Given the description of an element on the screen output the (x, y) to click on. 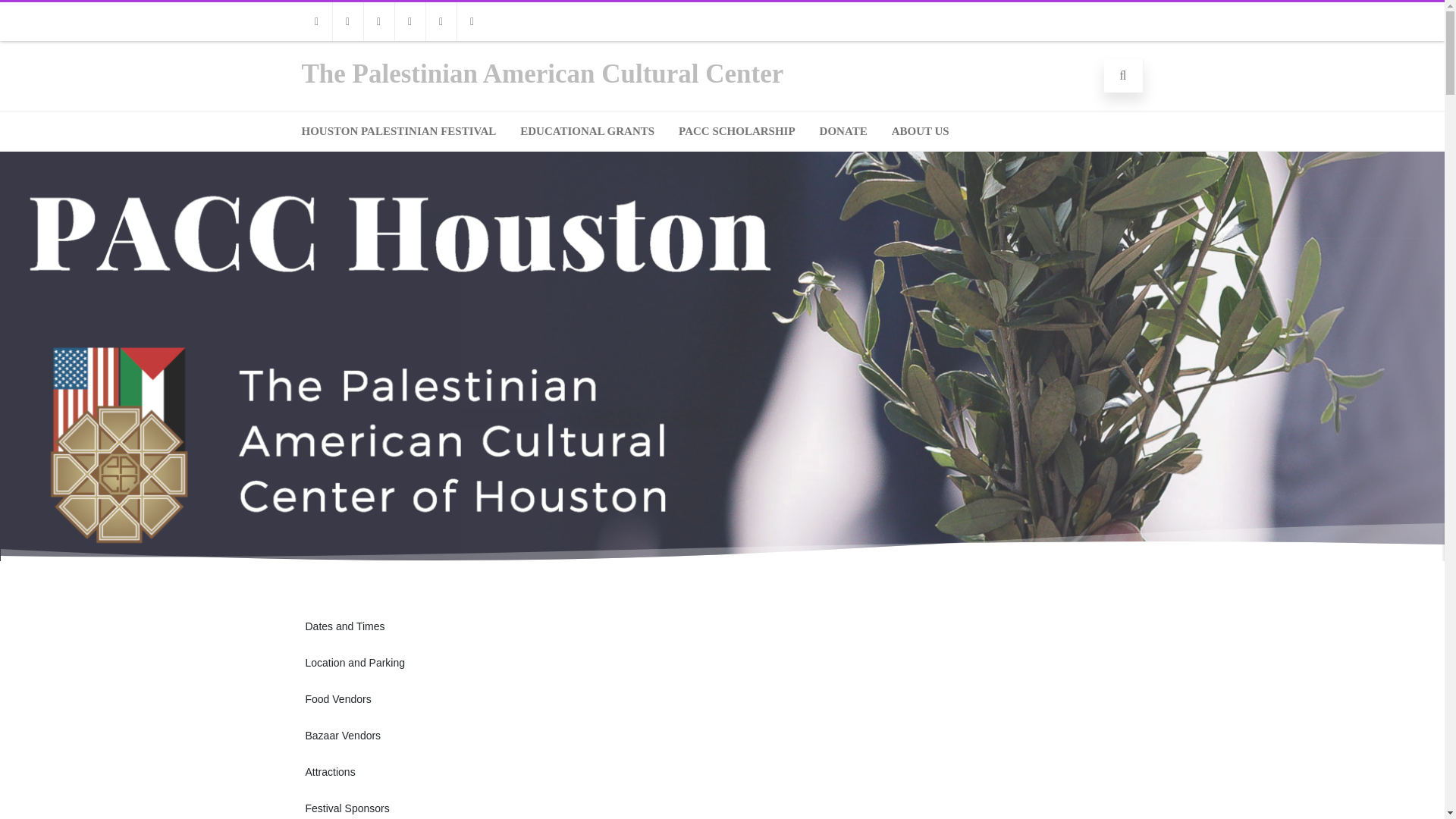
EDUCATIONAL GRANTS (586, 130)
HOUSTON PALESTINIAN FESTIVAL (397, 130)
ABOUT US (920, 130)
DONATE (843, 130)
The Palestinian American Cultural Center (542, 73)
PACC SCHOLARSHIP (736, 130)
The Palestinian American Cultural Center (542, 73)
